Given the description of an element on the screen output the (x, y) to click on. 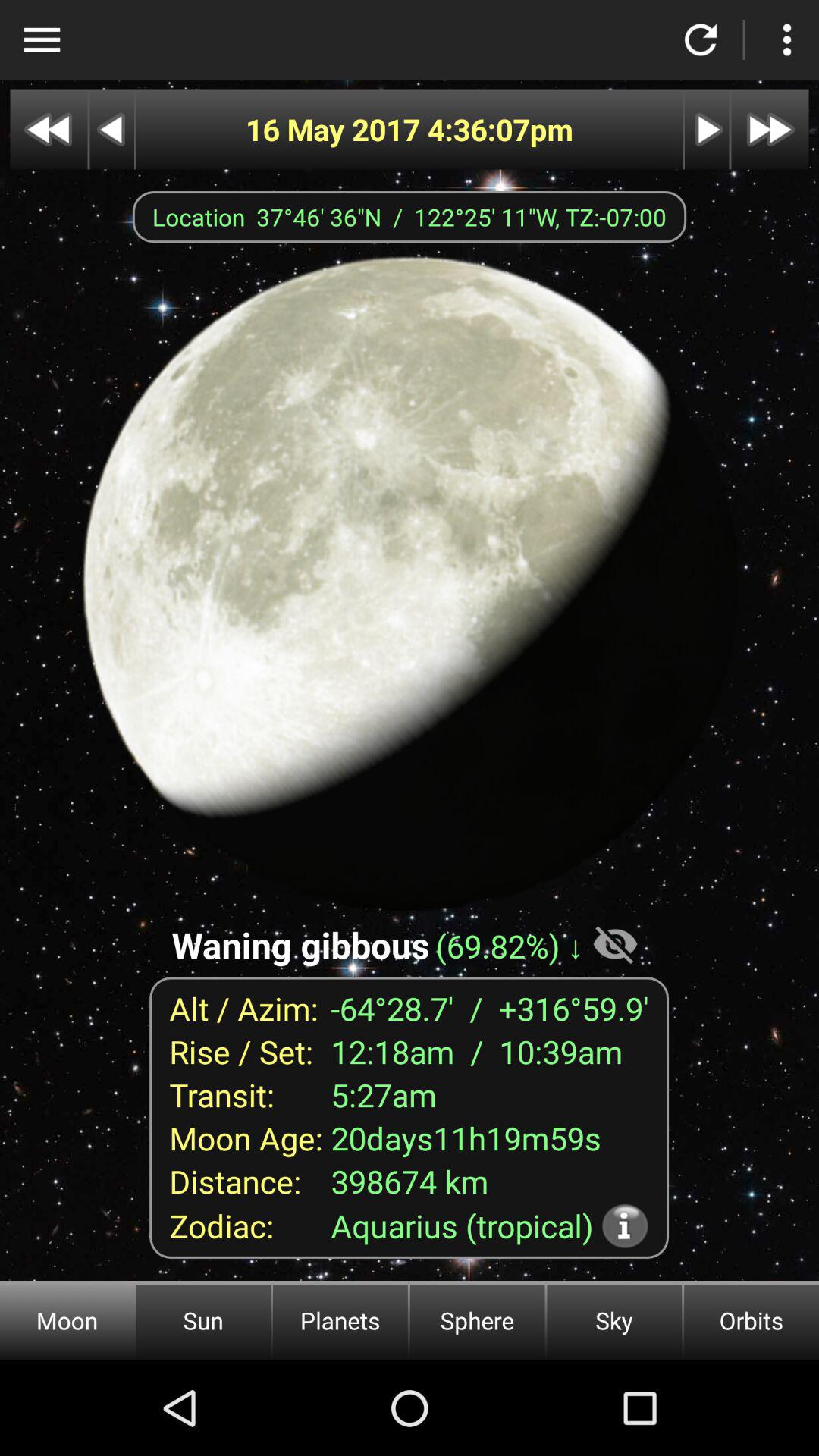
go foward (769, 129)
